Given the description of an element on the screen output the (x, y) to click on. 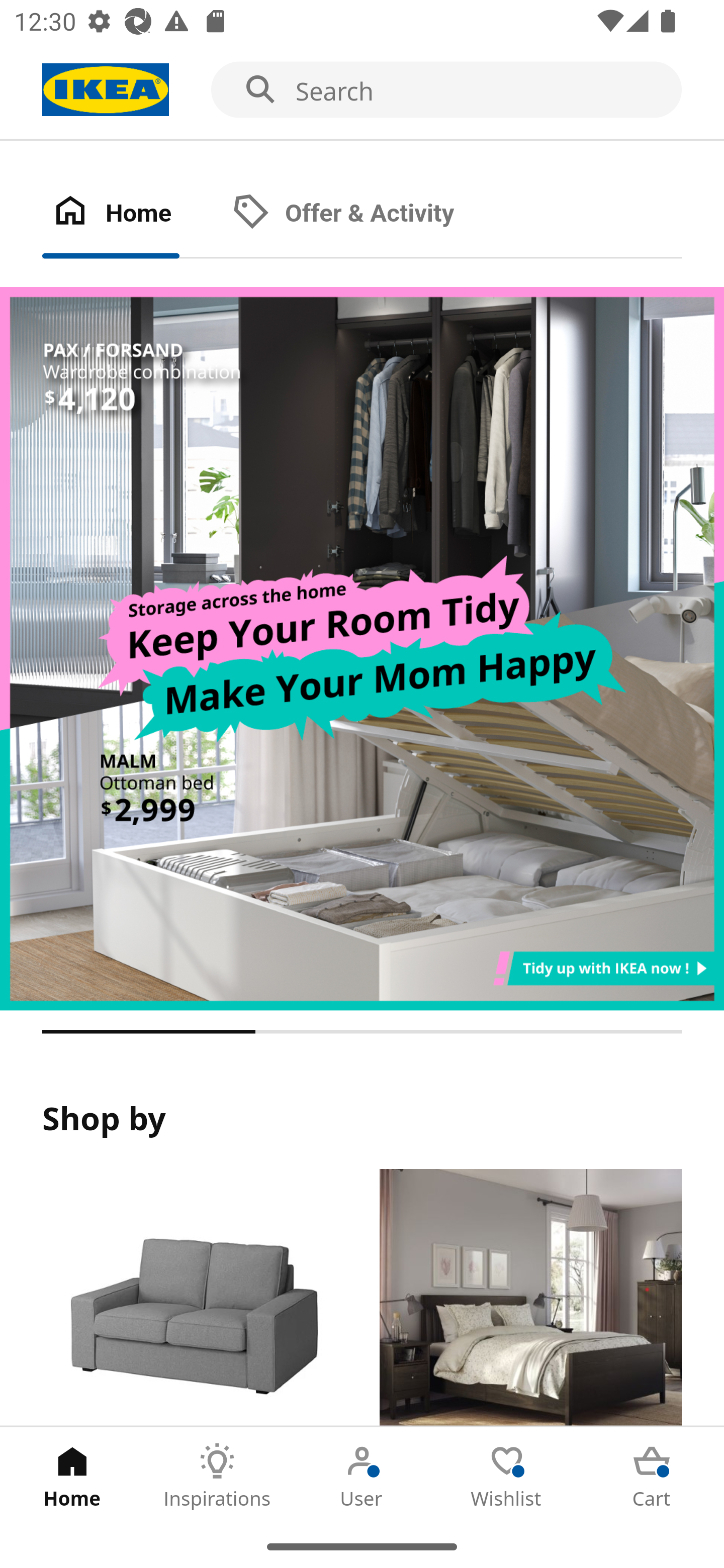
Search (361, 90)
Home
Tab 1 of 2 (131, 213)
Offer & Activity
Tab 2 of 2 (363, 213)
Products (192, 1297)
Rooms (530, 1297)
Home
Tab 1 of 5 (72, 1476)
Inspirations
Tab 2 of 5 (216, 1476)
User
Tab 3 of 5 (361, 1476)
Wishlist
Tab 4 of 5 (506, 1476)
Cart
Tab 5 of 5 (651, 1476)
